Given the description of an element on the screen output the (x, y) to click on. 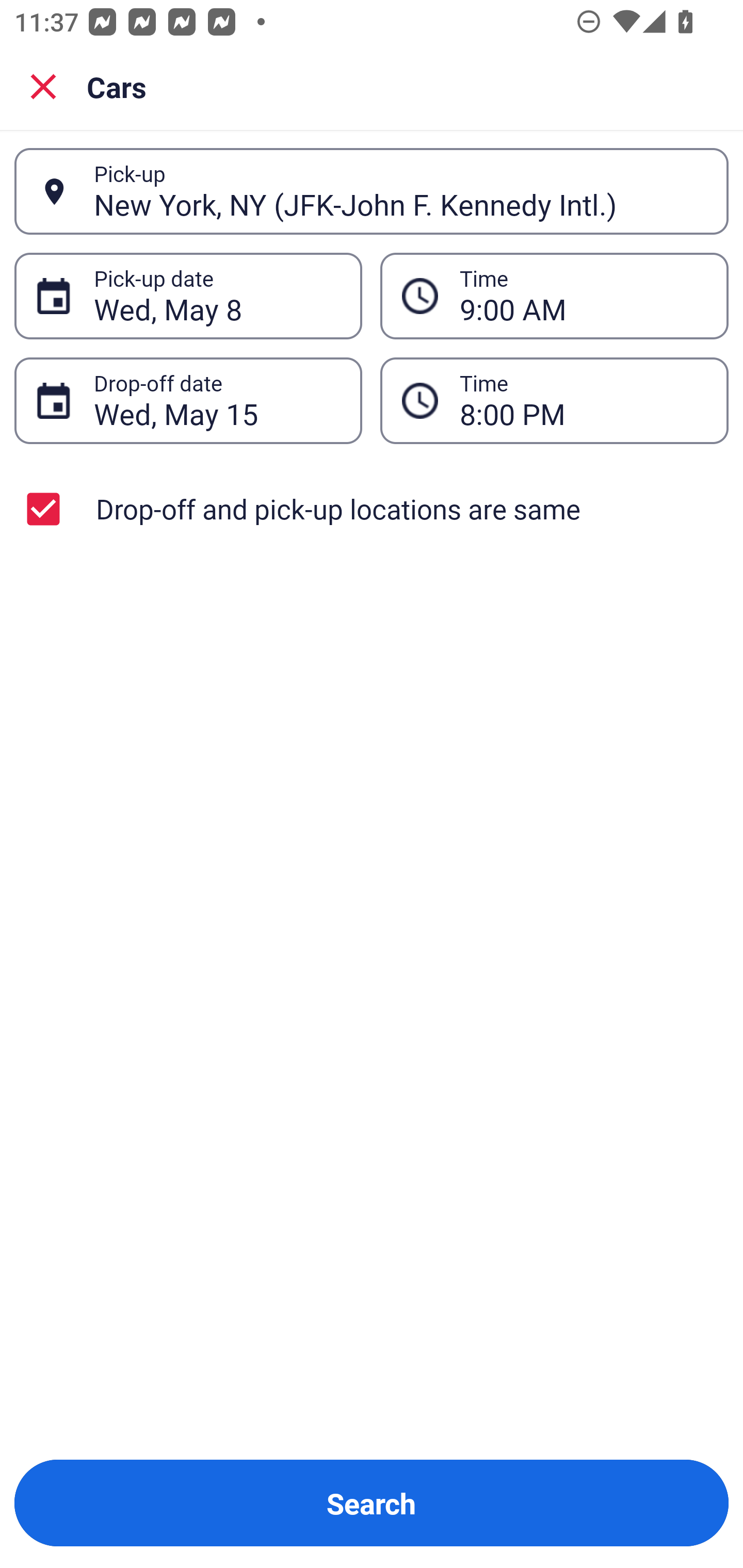
Close search screen (43, 86)
New York, NY (JFK-John F. Kennedy Intl.) Pick-up (371, 191)
New York, NY (JFK-John F. Kennedy Intl.) (399, 191)
Wed, May 8 Pick-up date (188, 295)
9:00 AM (554, 295)
Wed, May 8 (216, 296)
9:00 AM (582, 296)
Wed, May 15 Drop-off date (188, 400)
8:00 PM (554, 400)
Wed, May 15 (216, 400)
8:00 PM (582, 400)
Drop-off and pick-up locations are same (371, 508)
Search Button Search (371, 1502)
